Given the description of an element on the screen output the (x, y) to click on. 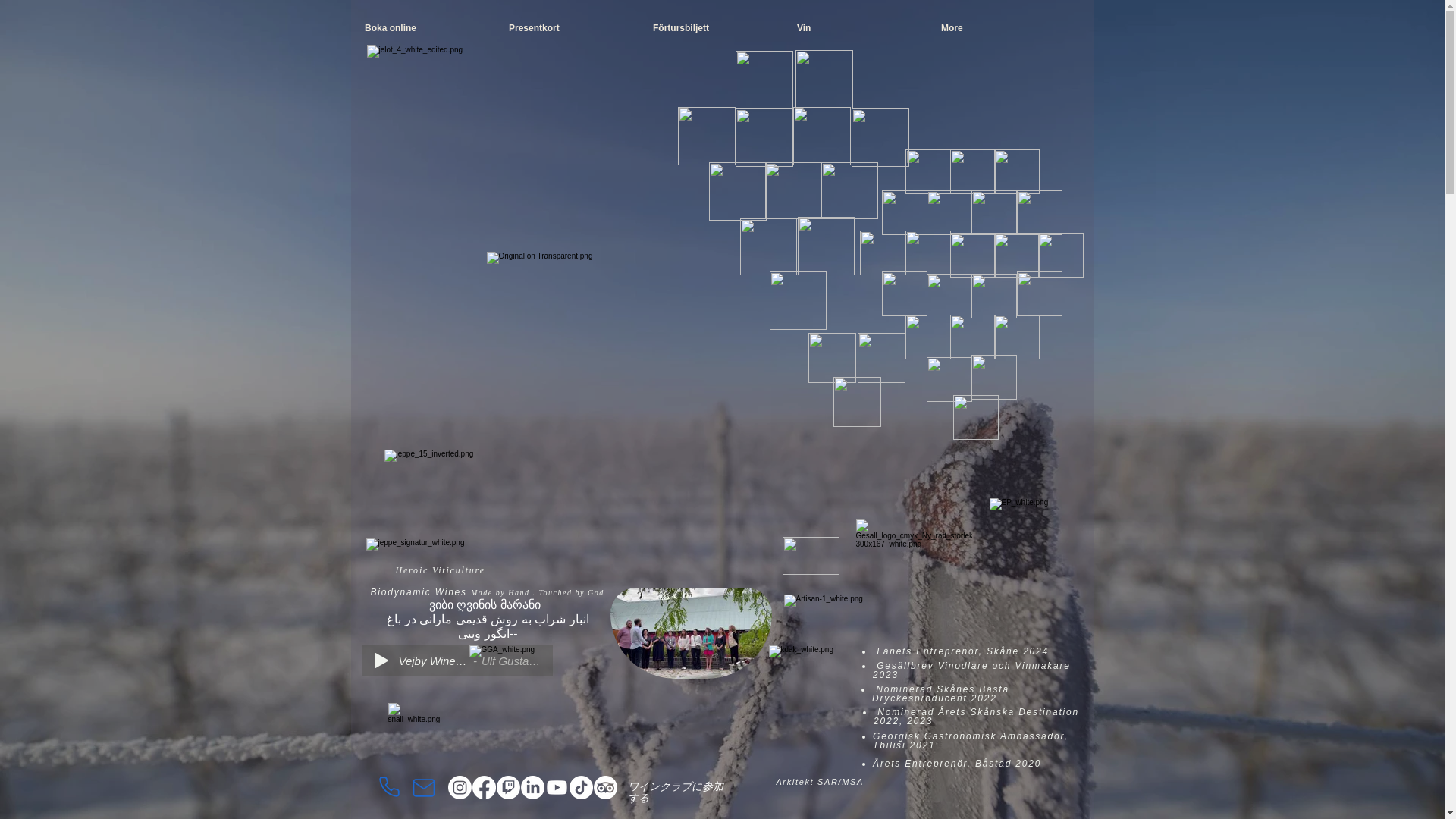
Presentkort (569, 28)
Vin (858, 28)
Boka online (425, 28)
